Given the description of an element on the screen output the (x, y) to click on. 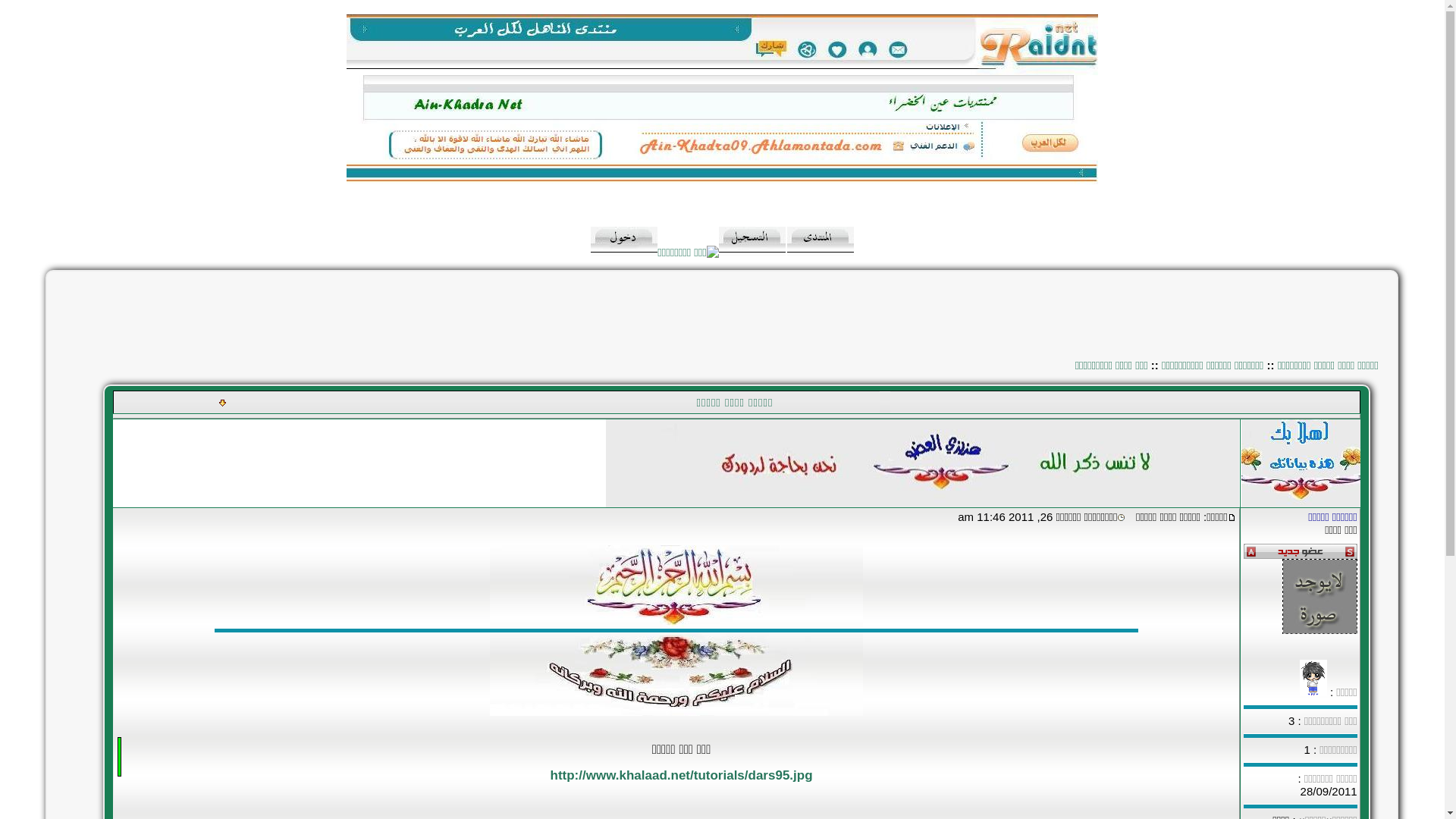
http://www.khalaad.net/tutorials/dars95.jpg Element type: text (681, 775)
